Given the description of an element on the screen output the (x, y) to click on. 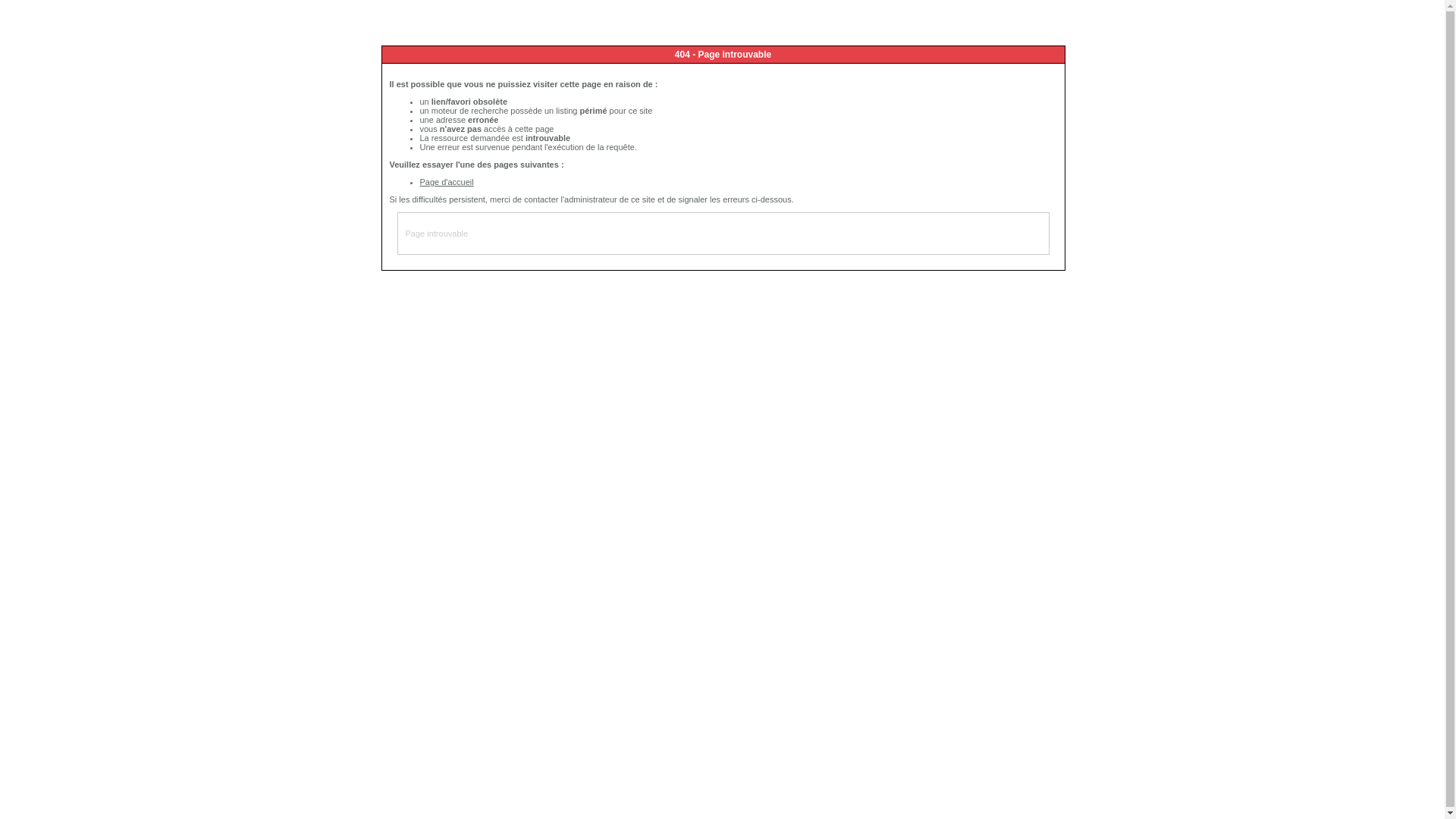
Page d'accueil Element type: text (446, 181)
